Given the description of an element on the screen output the (x, y) to click on. 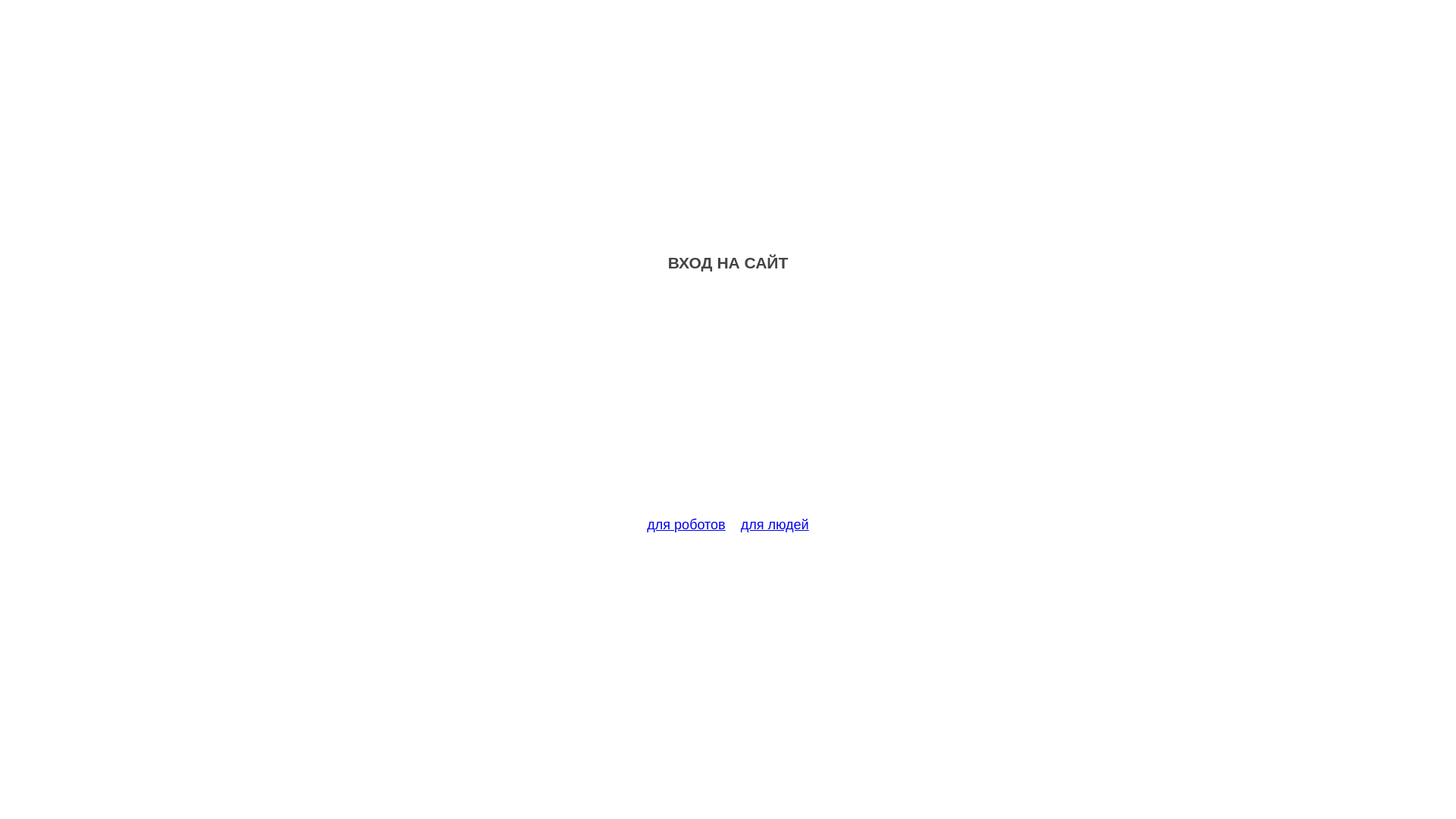
Advertisement Element type: hover (727, 403)
